Given the description of an element on the screen output the (x, y) to click on. 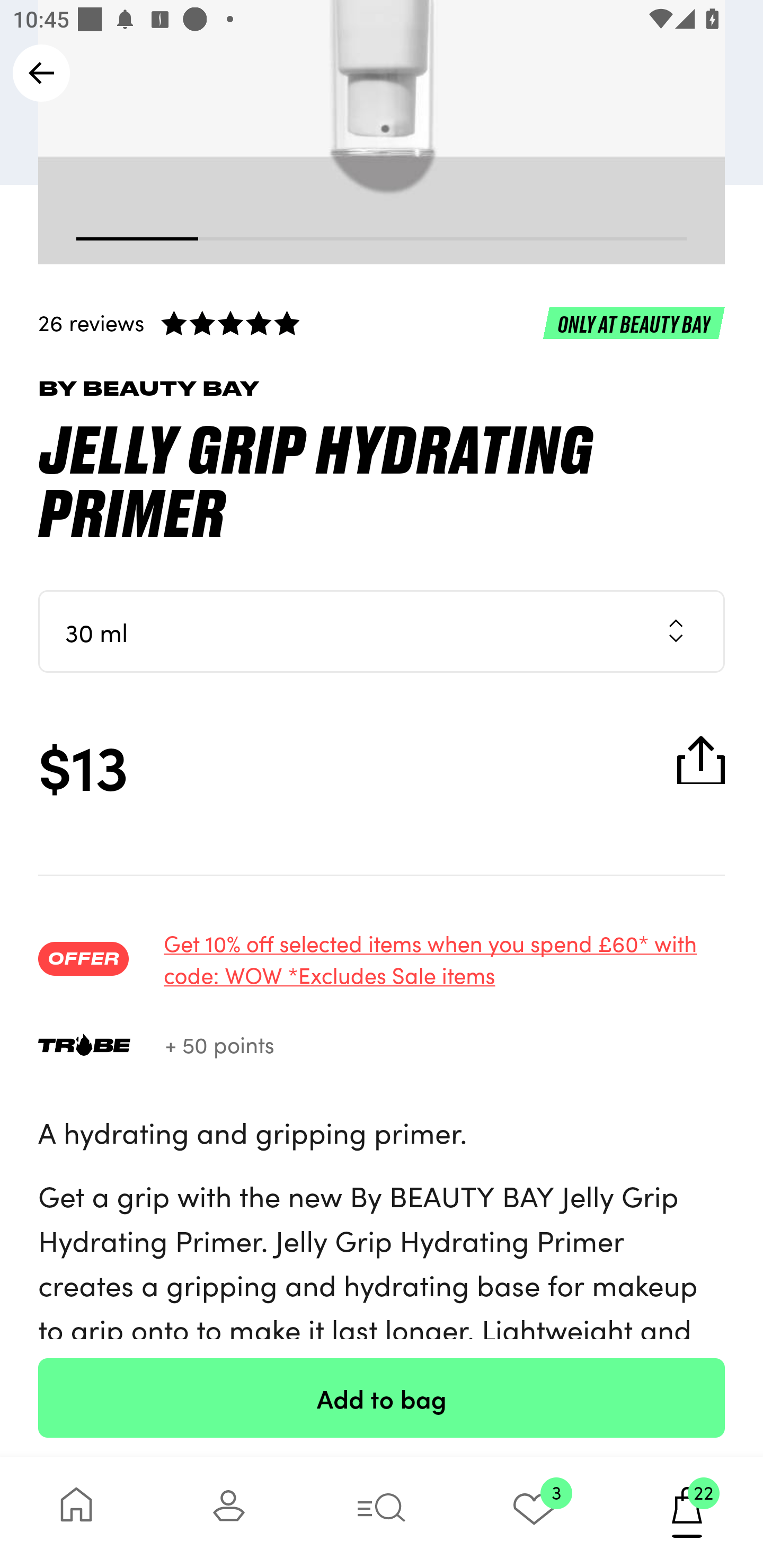
26 reviews (381, 321)
30 ml  (381, 630)
Add to bag (381, 1397)
3 (533, 1512)
22 (686, 1512)
